Given the description of an element on the screen output the (x, y) to click on. 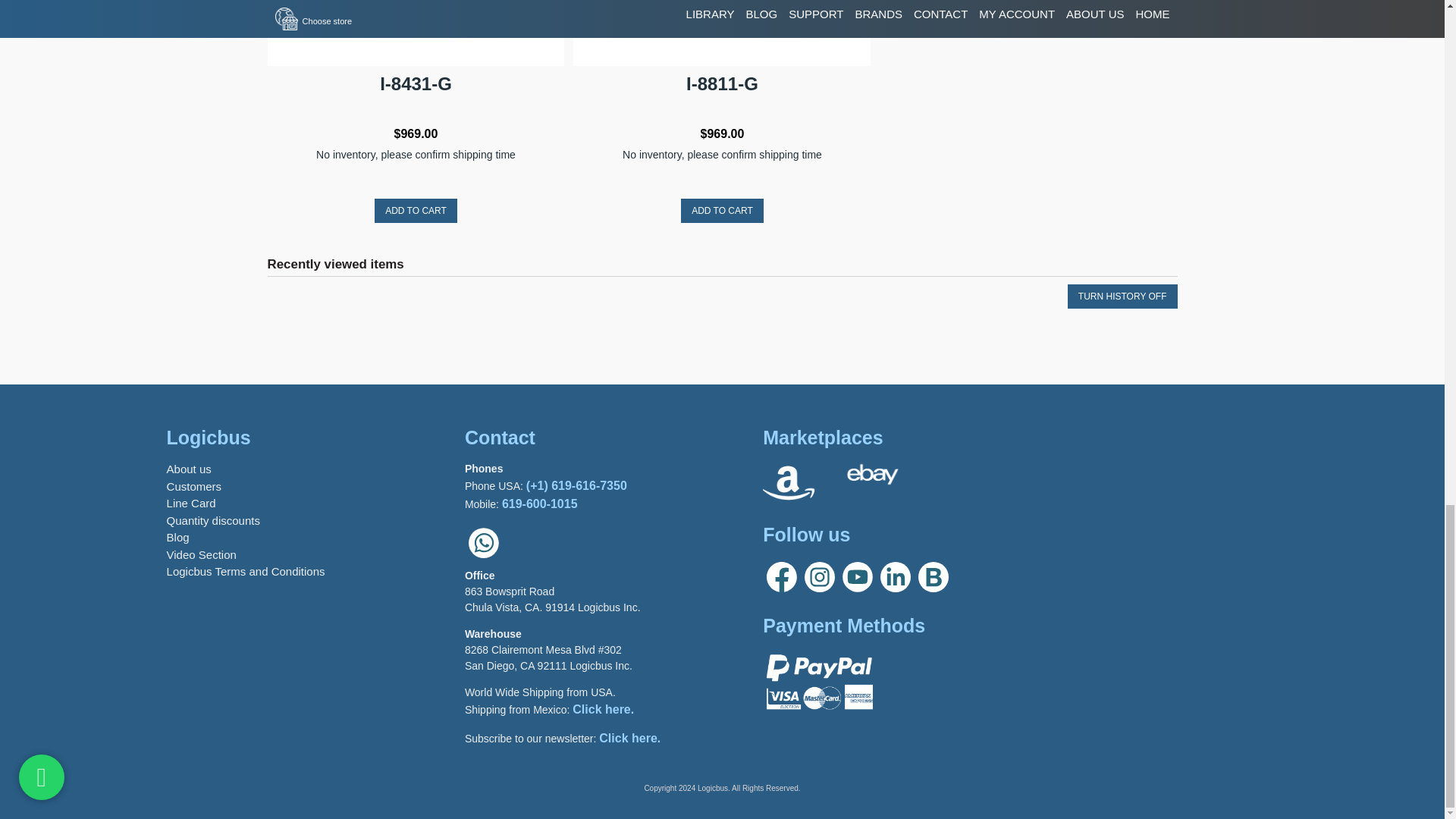
Suscribe to our Newsletter (629, 738)
Ebay (872, 486)
About us (189, 468)
Logicbus Terms and Conditions (245, 571)
Quantity discounts (213, 520)
Add to cart (721, 210)
Write us on Whatsapp (483, 557)
Amazon (788, 486)
Shipping from Mexico (602, 708)
Add to cart (415, 210)
